Given the description of an element on the screen output the (x, y) to click on. 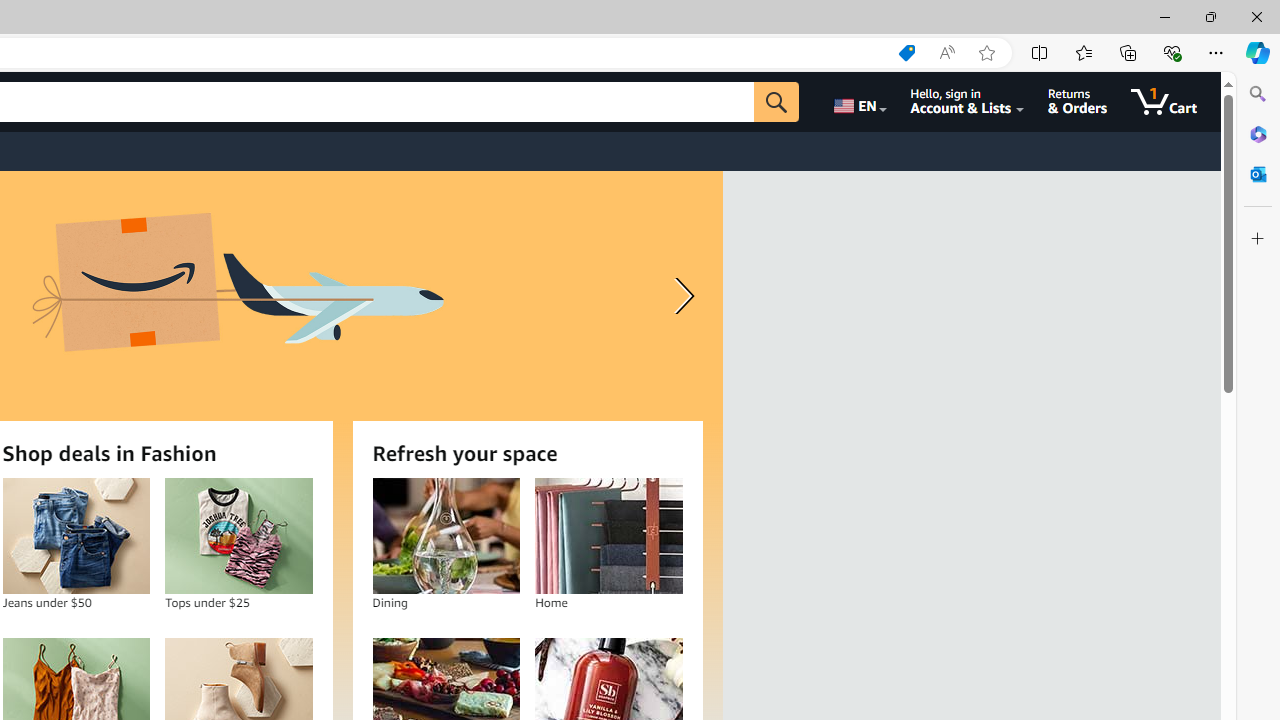
Go (776, 101)
Jeans under $50 (75, 536)
Hello, sign in Account & Lists (967, 101)
Dining (445, 536)
Returns & Orders (1077, 101)
